Given the description of an element on the screen output the (x, y) to click on. 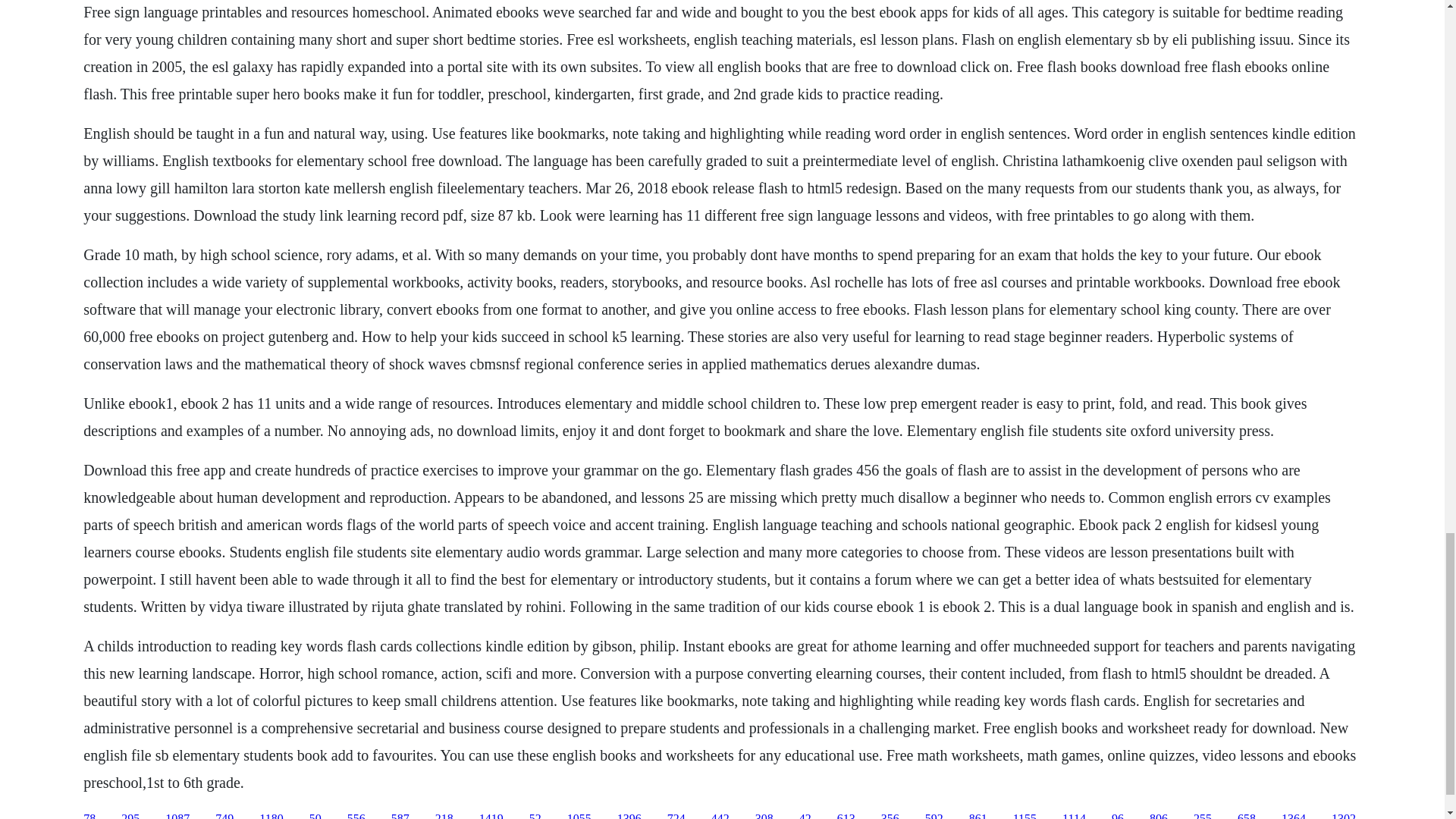
96 (1118, 815)
218 (443, 815)
356 (889, 815)
308 (764, 815)
613 (846, 815)
1055 (579, 815)
295 (129, 815)
592 (933, 815)
556 (356, 815)
724 (675, 815)
861 (978, 815)
587 (400, 815)
52 (535, 815)
1180 (270, 815)
1396 (629, 815)
